Given the description of an element on the screen output the (x, y) to click on. 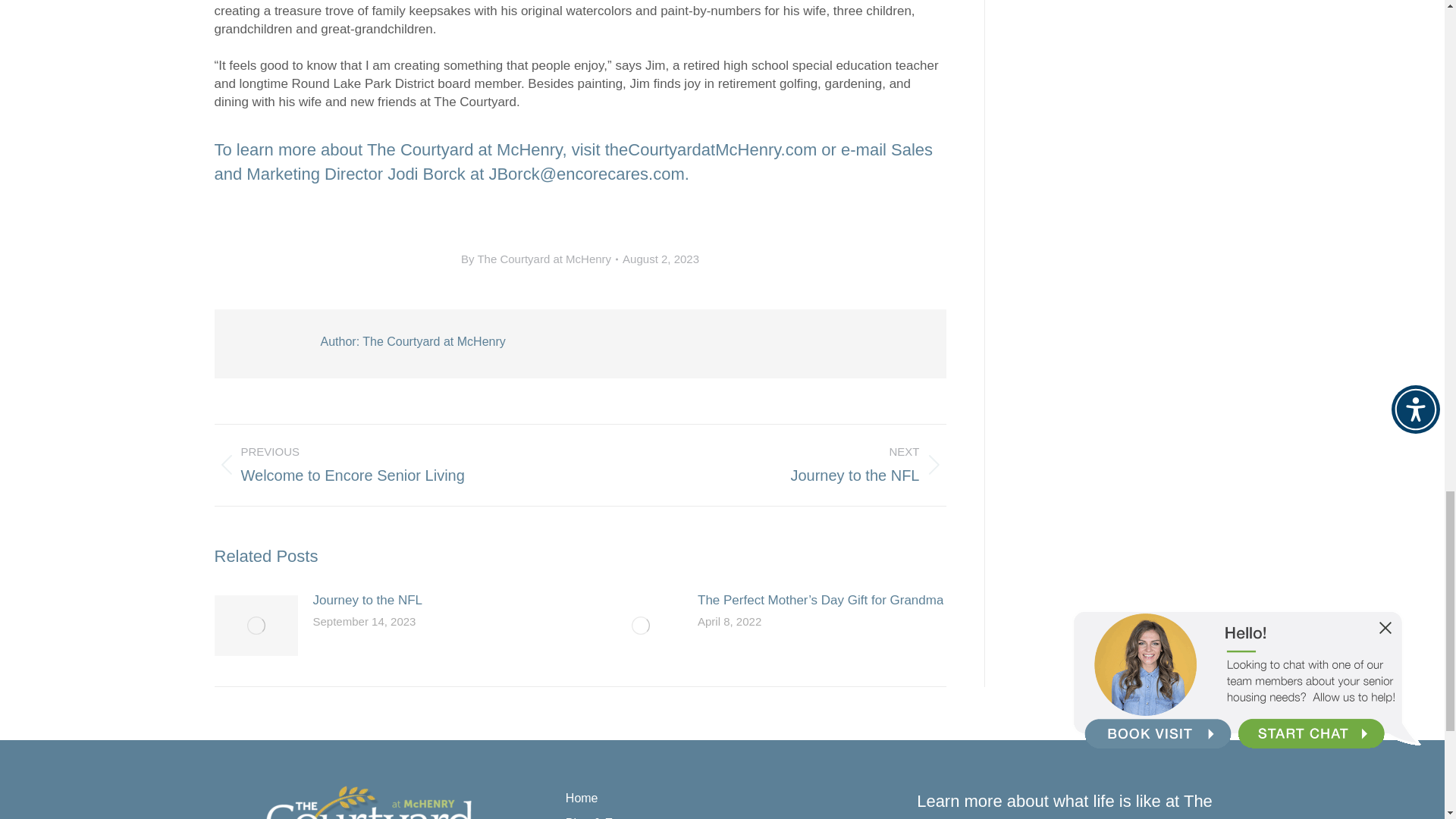
August 2, 2023 (660, 258)
By The Courtyard at McHenry (539, 258)
View all posts by The Courtyard at McHenry (385, 464)
10:33 am (539, 258)
